Given the description of an element on the screen output the (x, y) to click on. 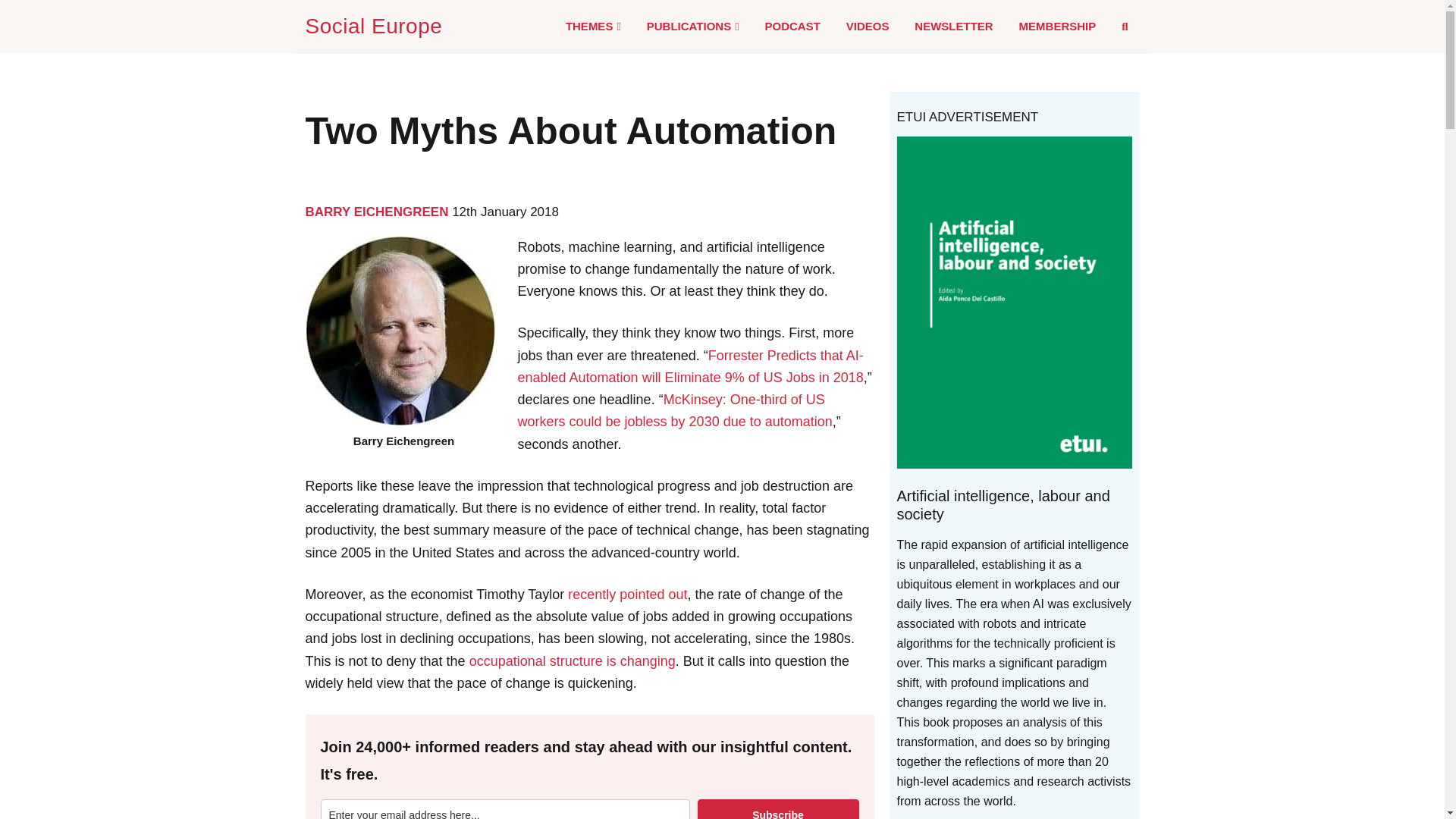
recently pointed out (627, 594)
THEMES (592, 26)
occupational structure is changing (571, 661)
VIDEOS (867, 25)
Social Europe (376, 26)
PODCAST (792, 25)
BARRY EICHENGREEN (376, 211)
PUBLICATIONS (692, 26)
Subscribe (778, 809)
